Given the description of an element on the screen output the (x, y) to click on. 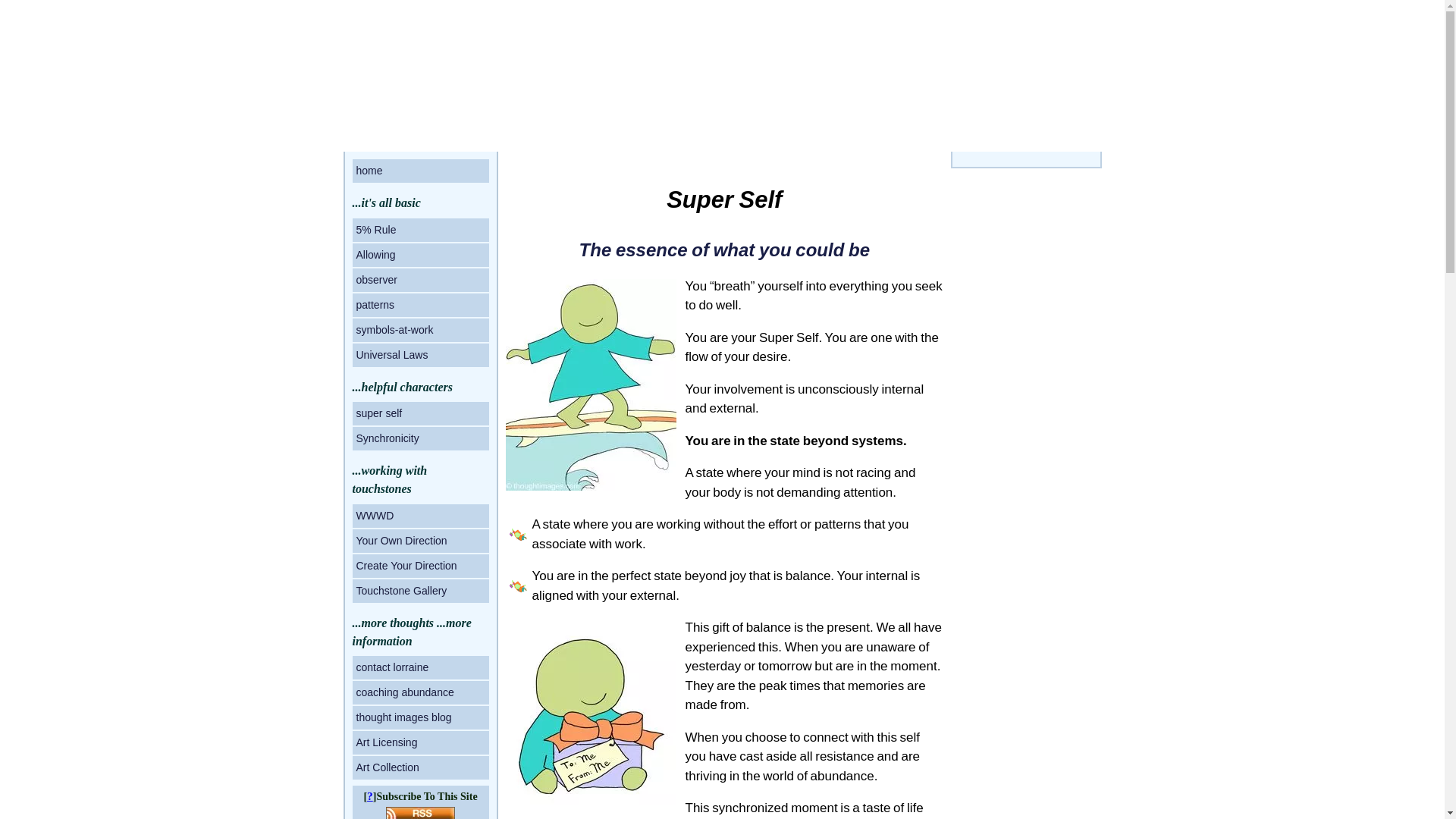
Art Collection (419, 767)
WWWD (419, 515)
symbols-at-work (419, 330)
home (419, 170)
Synchronicity (419, 438)
Your Own Direction (419, 540)
contact lorraine (419, 667)
observer (419, 279)
Universal Laws (419, 354)
Art Licensing (419, 742)
